Given the description of an element on the screen output the (x, y) to click on. 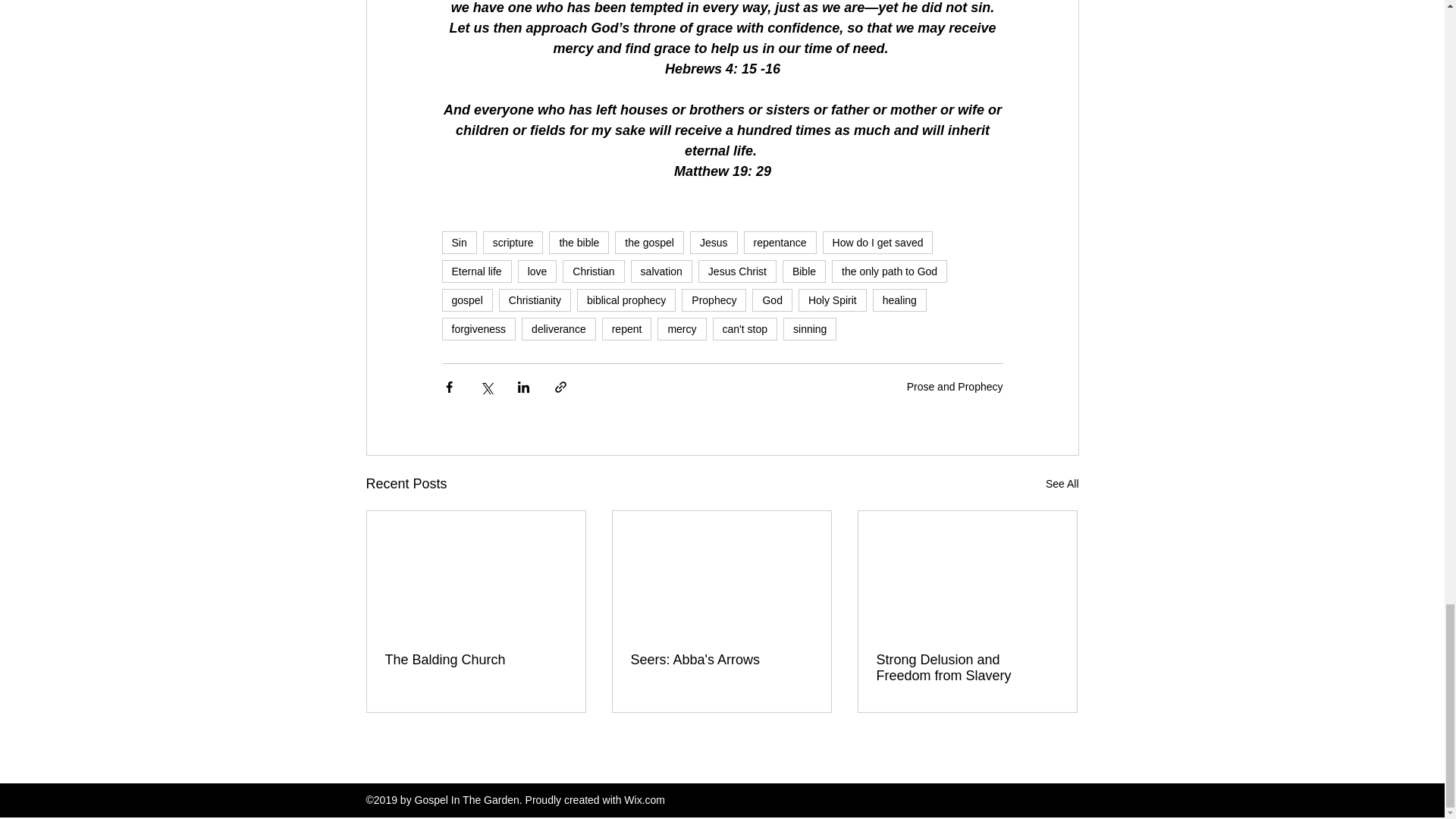
repentance (780, 241)
salvation (661, 271)
mercy (682, 328)
Holy Spirit (831, 300)
Christian (593, 271)
Prophecy (713, 300)
Jesus (714, 241)
Bible (804, 271)
the bible (578, 241)
God (772, 300)
Jesus Christ (737, 271)
gospel (466, 300)
the only path to God (889, 271)
deliverance (558, 328)
Eternal life (476, 271)
